Given the description of an element on the screen output the (x, y) to click on. 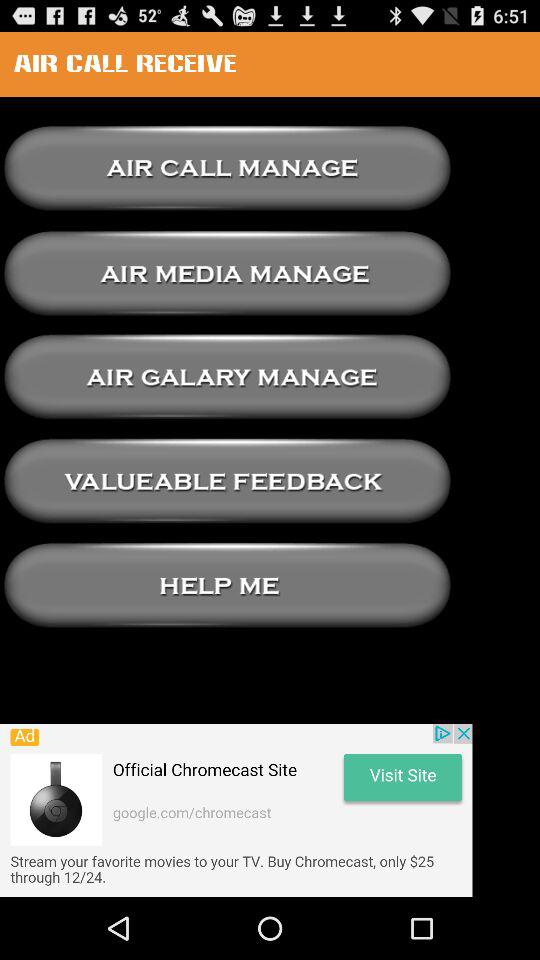
go to advertisement (236, 810)
